Given the description of an element on the screen output the (x, y) to click on. 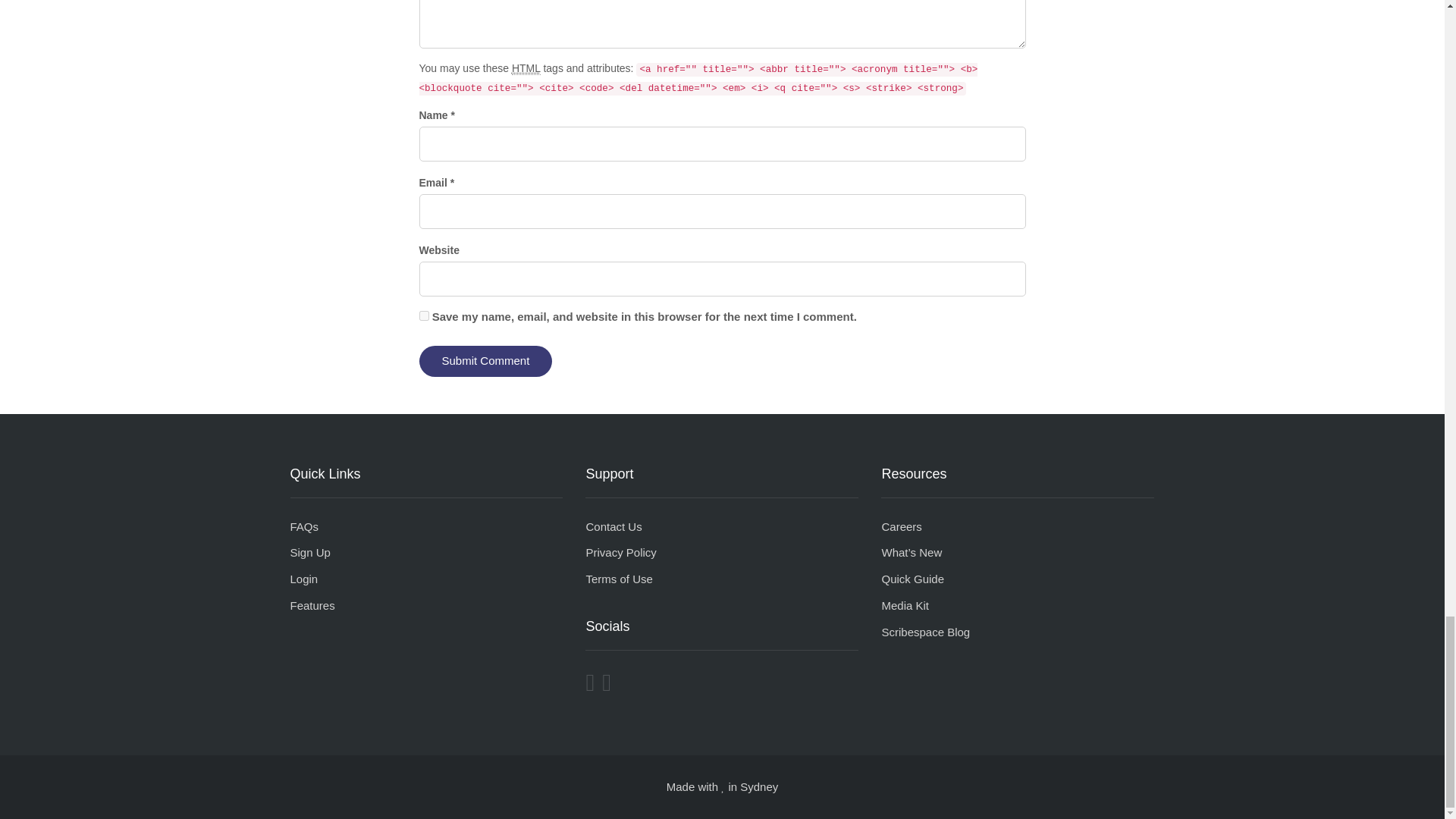
yes (423, 316)
Terms of Use (618, 578)
Sign Up (309, 552)
Contact Us (613, 526)
Privacy Policy (620, 552)
HyperText Markup Language (526, 68)
Features (311, 604)
Media Kit (904, 604)
Quick Guide (911, 578)
Scribespace Blog (924, 631)
Submit Comment (485, 360)
Login (303, 578)
Submit Comment (485, 360)
